Given the description of an element on the screen output the (x, y) to click on. 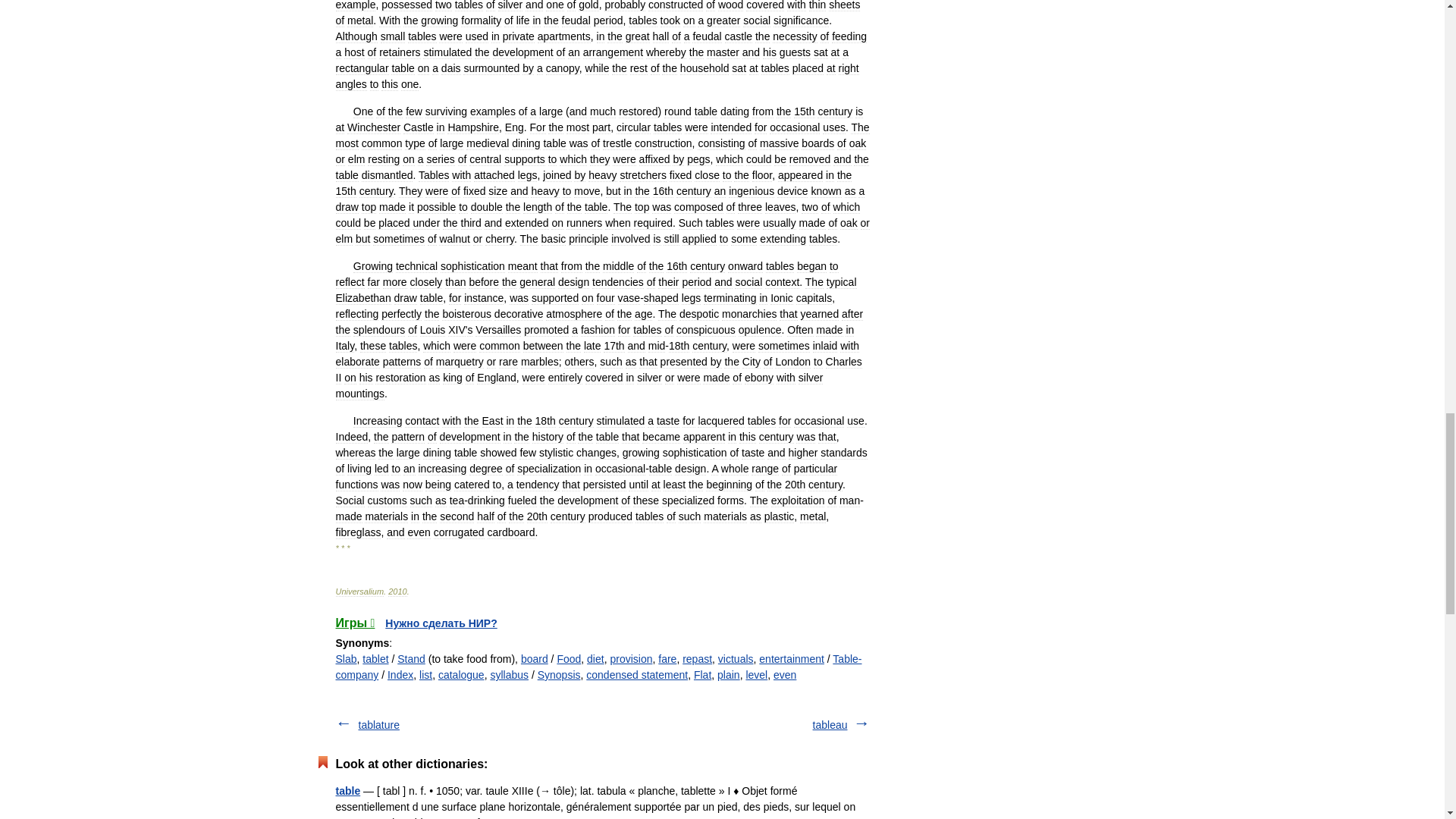
tableau (829, 725)
tablature (378, 725)
